Given the description of an element on the screen output the (x, y) to click on. 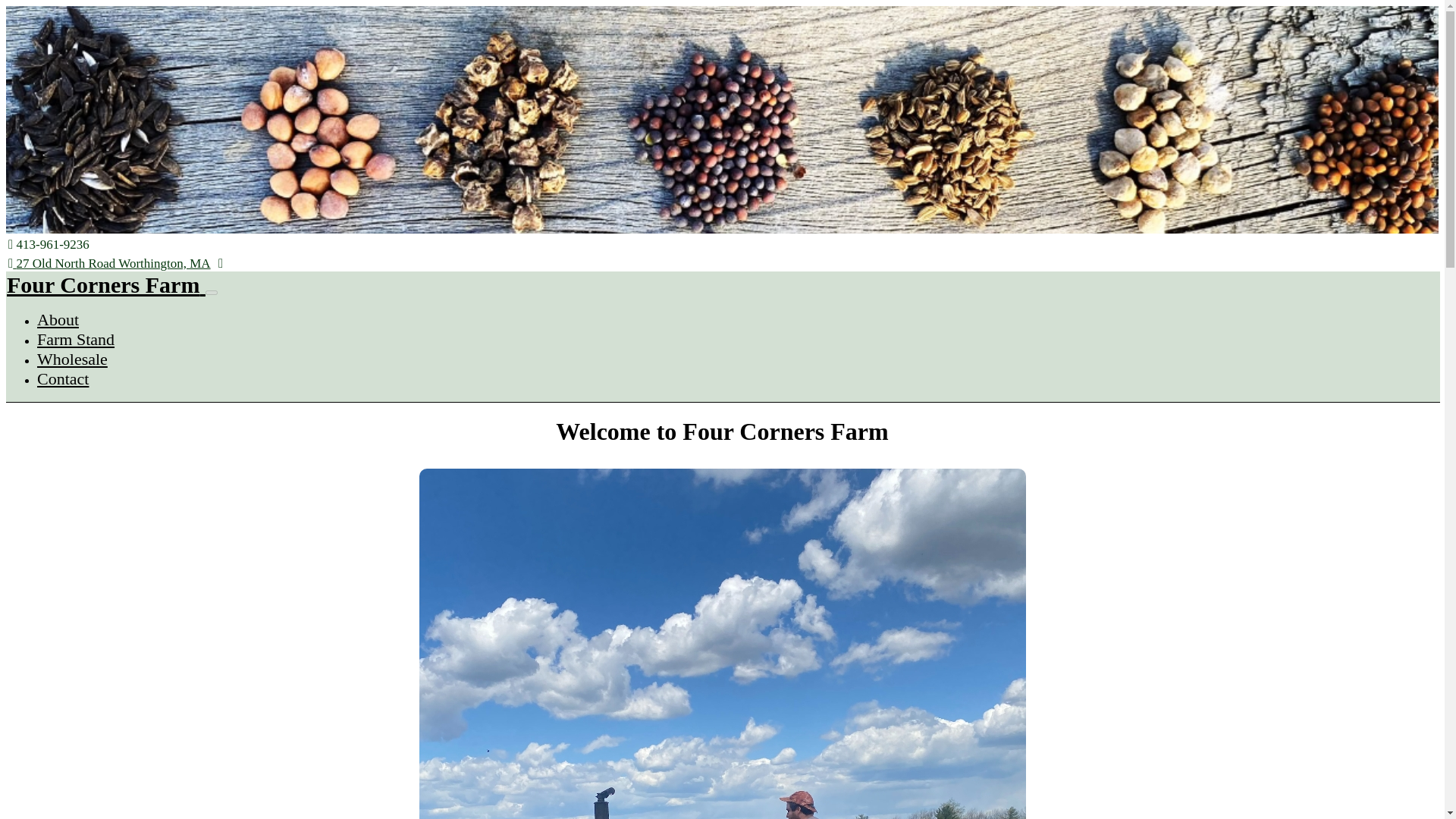
About (57, 319)
27 Old North Road Worthington, MA (109, 263)
Farm Stand (76, 339)
Wholesale (72, 358)
Contact (62, 378)
Four Corners Farm (106, 284)
